Given the description of an element on the screen output the (x, y) to click on. 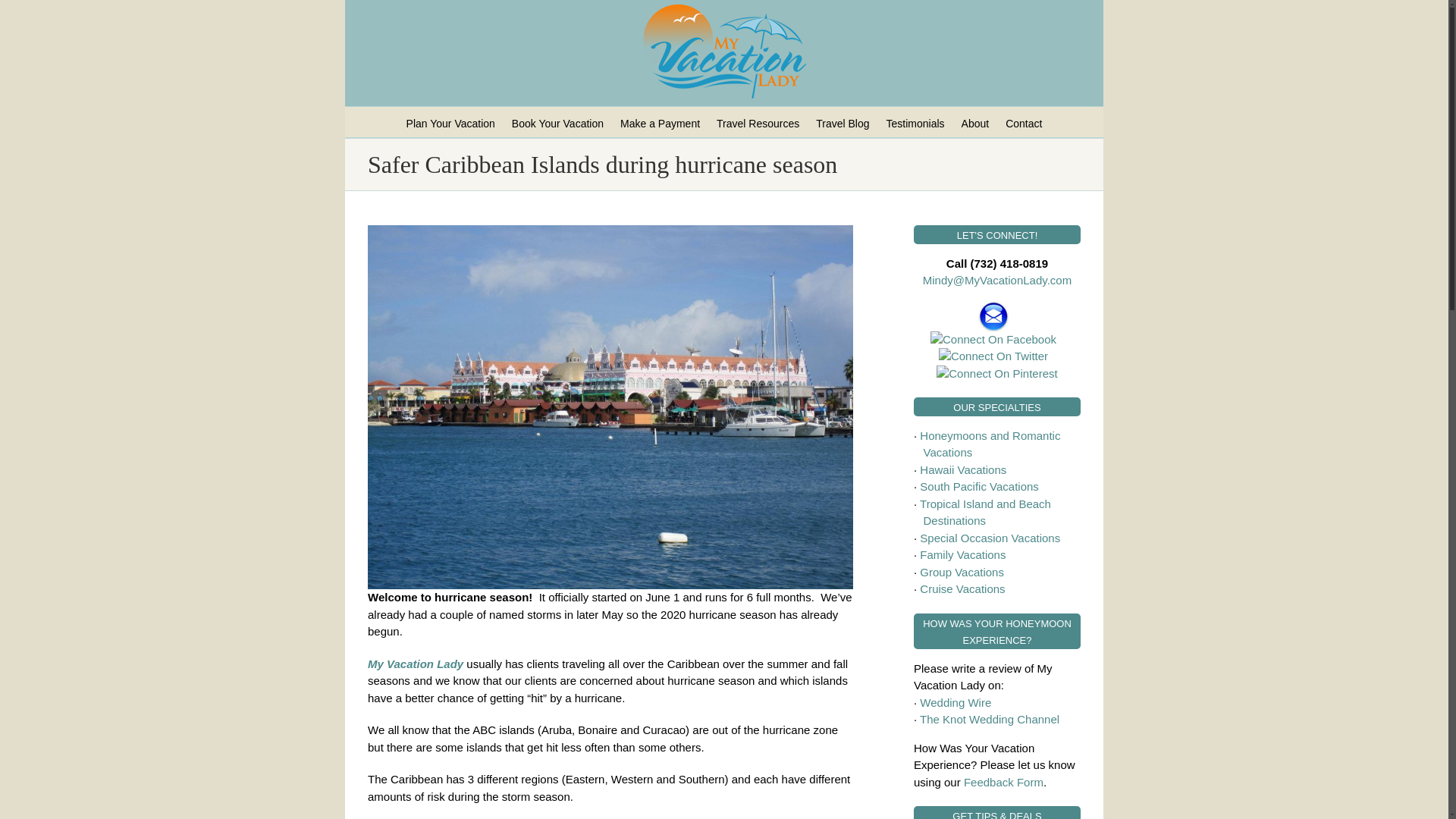
Testimonials (915, 122)
Family Vacation, Vacations (963, 554)
Hawaiian Vacation, Hawaii Vacation (963, 468)
Special Occasion Vacations (989, 536)
South Pacific Vacations, Tahiti (979, 486)
Make a Payment (660, 122)
Honeymoon Vacation, Romantic Vacation (986, 444)
About (975, 122)
My Vacation Lady (415, 662)
Cruises, Cruise Vacation (962, 588)
